Given the description of an element on the screen output the (x, y) to click on. 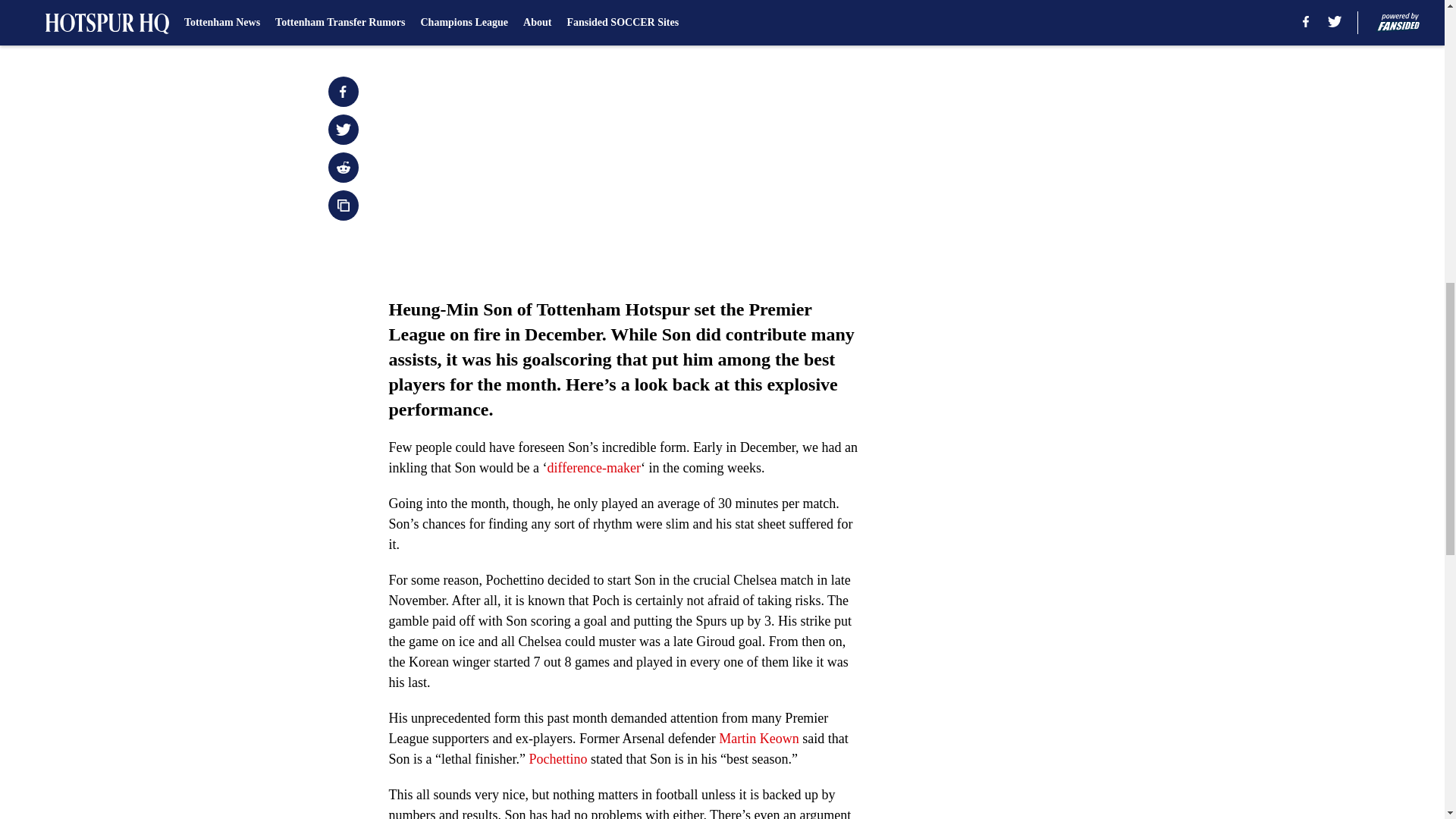
difference-maker (593, 467)
Pochettino (557, 758)
Martin Keown (758, 738)
